Given the description of an element on the screen output the (x, y) to click on. 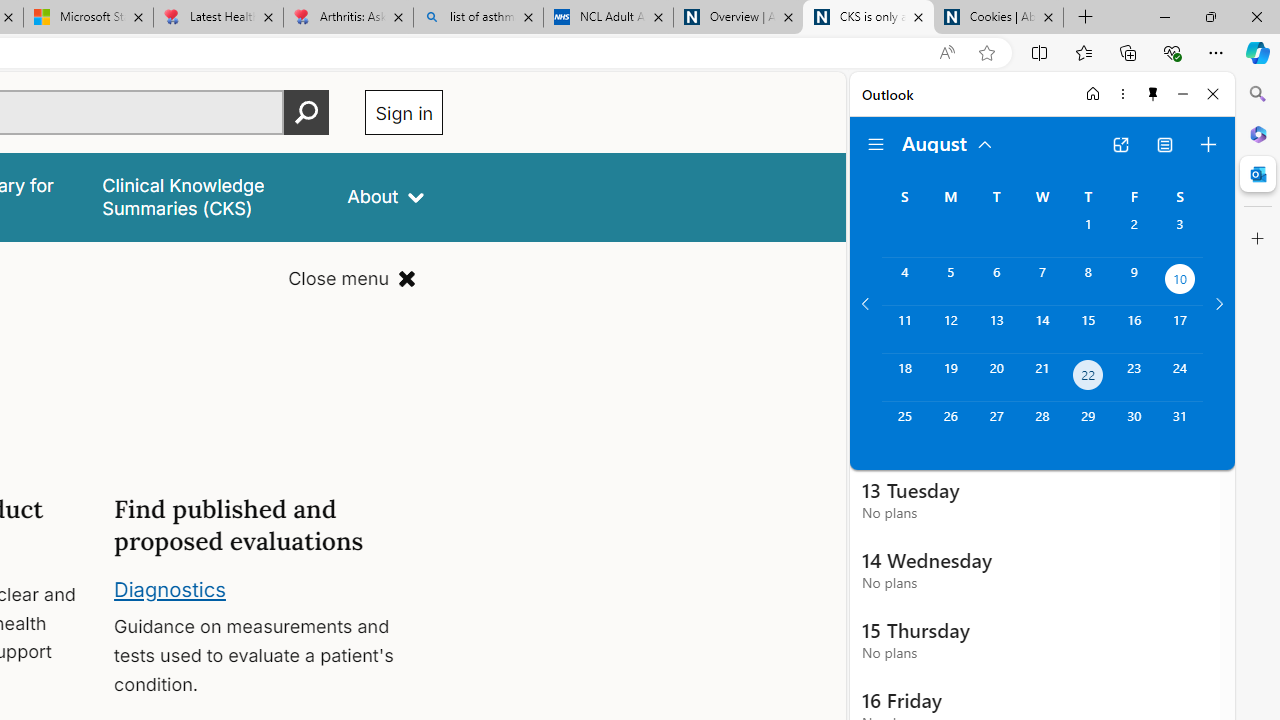
Monday, August 5, 2024.  (950, 281)
Tuesday, August 20, 2024.  (996, 377)
Close menu (352, 278)
About (386, 196)
Thursday, August 1, 2024.  (1088, 233)
Create event (1208, 144)
Friday, August 30, 2024.  (1134, 425)
Friday, August 23, 2024.  (1134, 377)
